Given the description of an element on the screen output the (x, y) to click on. 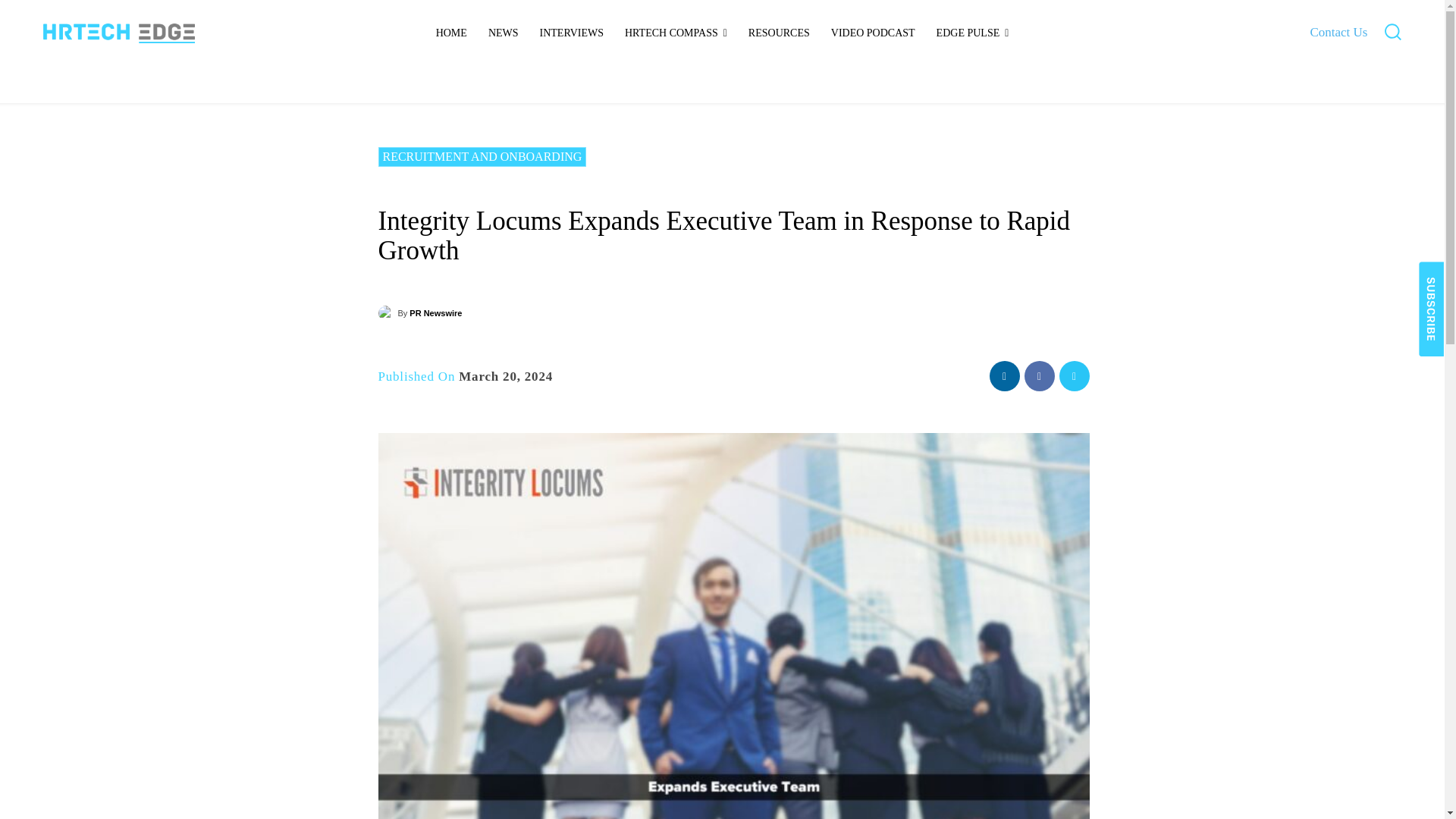
PR Newswire (387, 313)
Facebook (1038, 376)
View all posts in News (425, 95)
Linkedin (1003, 376)
Twitter (1073, 376)
